Given the description of an element on the screen output the (x, y) to click on. 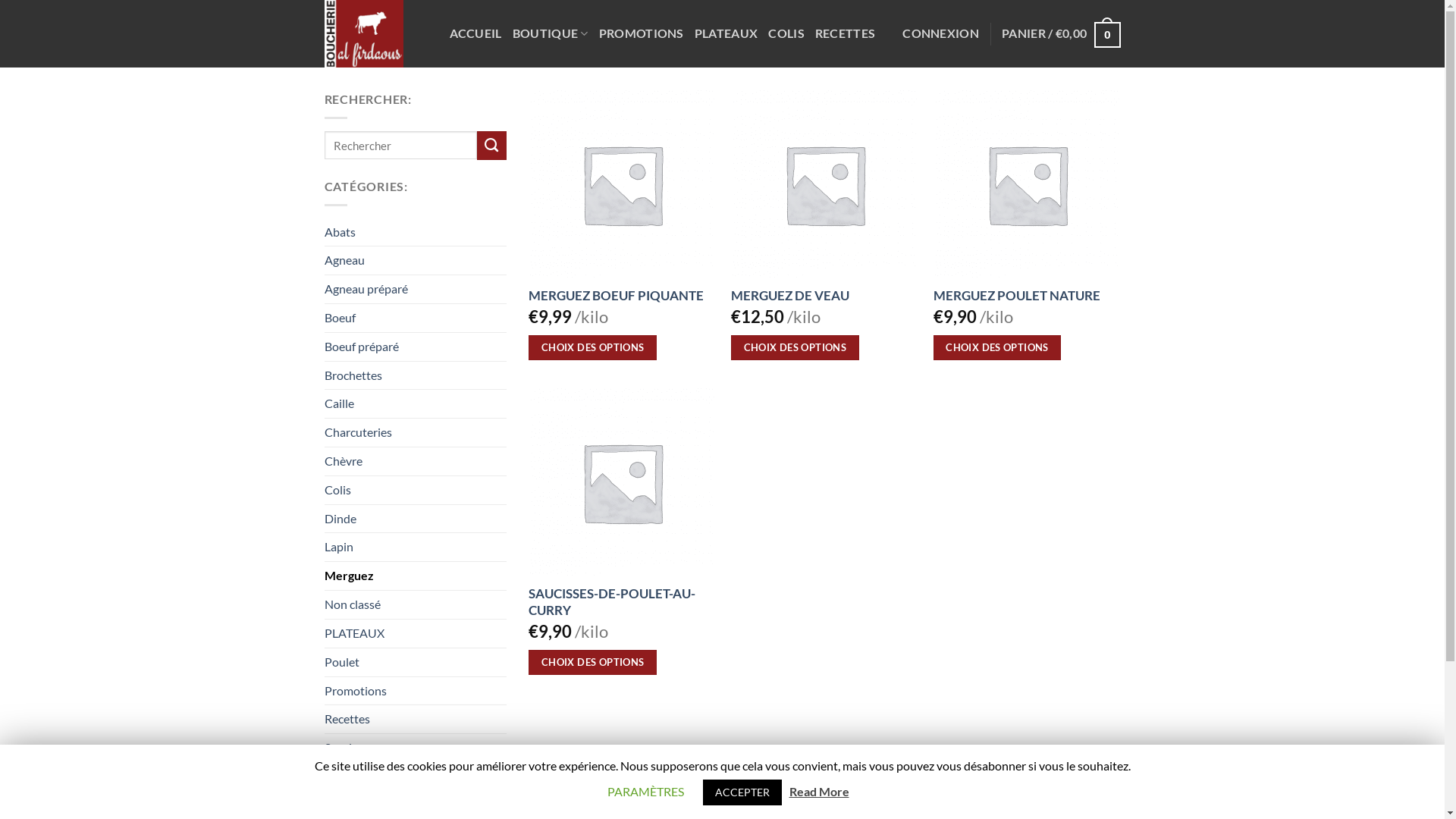
SAUCISSES-DE-POULET-AU-CURRY Element type: text (616, 601)
Merguez Element type: text (415, 575)
Poulet Element type: text (415, 662)
MERGUEZ DE VEAU Element type: text (790, 295)
COLIS Element type: text (786, 33)
Dinde Element type: text (415, 519)
MERGUEZ POULET NATURE Element type: text (1016, 295)
ACCEPTER Element type: text (741, 792)
CHOIX DES OPTIONS Element type: text (592, 347)
Veau Element type: text (415, 776)
RECETTES Element type: text (845, 33)
MERGUEZ BOEUF PIQUANTE Element type: text (615, 295)
Promotions Element type: text (415, 691)
PLATEAUX Element type: text (415, 633)
Charcuteries Element type: text (415, 432)
Boeuf Element type: text (415, 318)
Boucherie Al Firdaous - Boucherie Element type: hover (375, 33)
CHOIX DES OPTIONS Element type: text (997, 347)
CHOIX DES OPTIONS Element type: text (795, 347)
ACCUEIL Element type: text (474, 33)
Read More Element type: text (818, 791)
Saucisses Element type: text (415, 748)
Caille Element type: text (415, 403)
Recettes Element type: text (415, 719)
BOUTIQUE Element type: text (550, 33)
PROMOTIONS Element type: text (641, 33)
PLATEAUX Element type: text (725, 33)
Lapin Element type: text (415, 547)
Abats Element type: text (415, 232)
CHOIX DES OPTIONS Element type: text (592, 661)
CONNEXION Element type: text (940, 33)
Colis Element type: text (415, 490)
Agneau Element type: text (415, 260)
Brochettes Element type: text (415, 375)
